Given the description of an element on the screen output the (x, y) to click on. 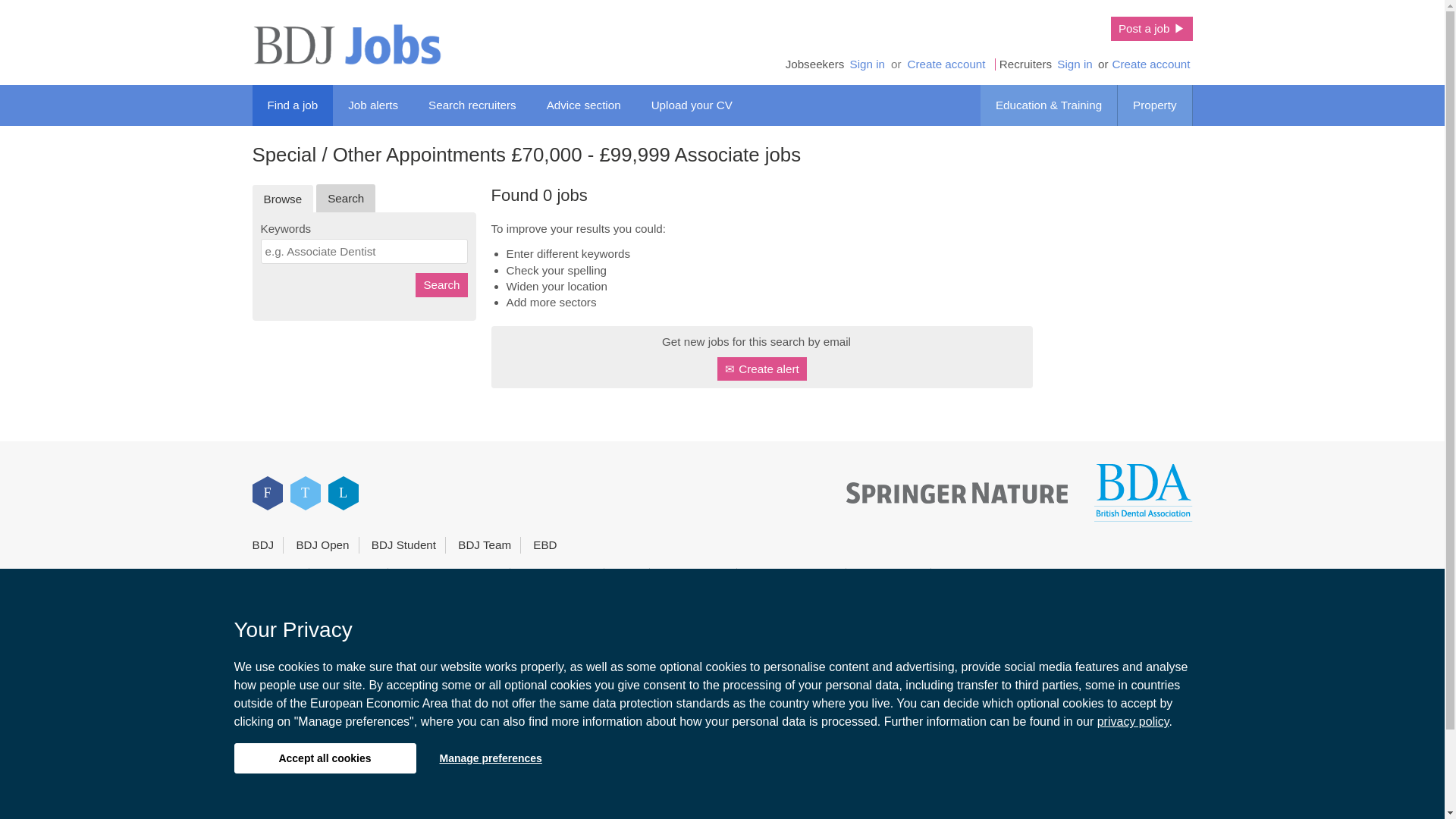
BDJ Open (322, 544)
Sign in (1074, 64)
Upload your CV (692, 105)
Property (1155, 105)
Browse (282, 198)
BDJ Team (484, 544)
Job alerts (373, 105)
Sign in (866, 64)
Create account (1150, 64)
Find a job (292, 105)
Contact Us (349, 575)
Advice section (583, 105)
BDJ Jobs (346, 44)
Create alert (761, 368)
BDJ (262, 544)
